Given the description of an element on the screen output the (x, y) to click on. 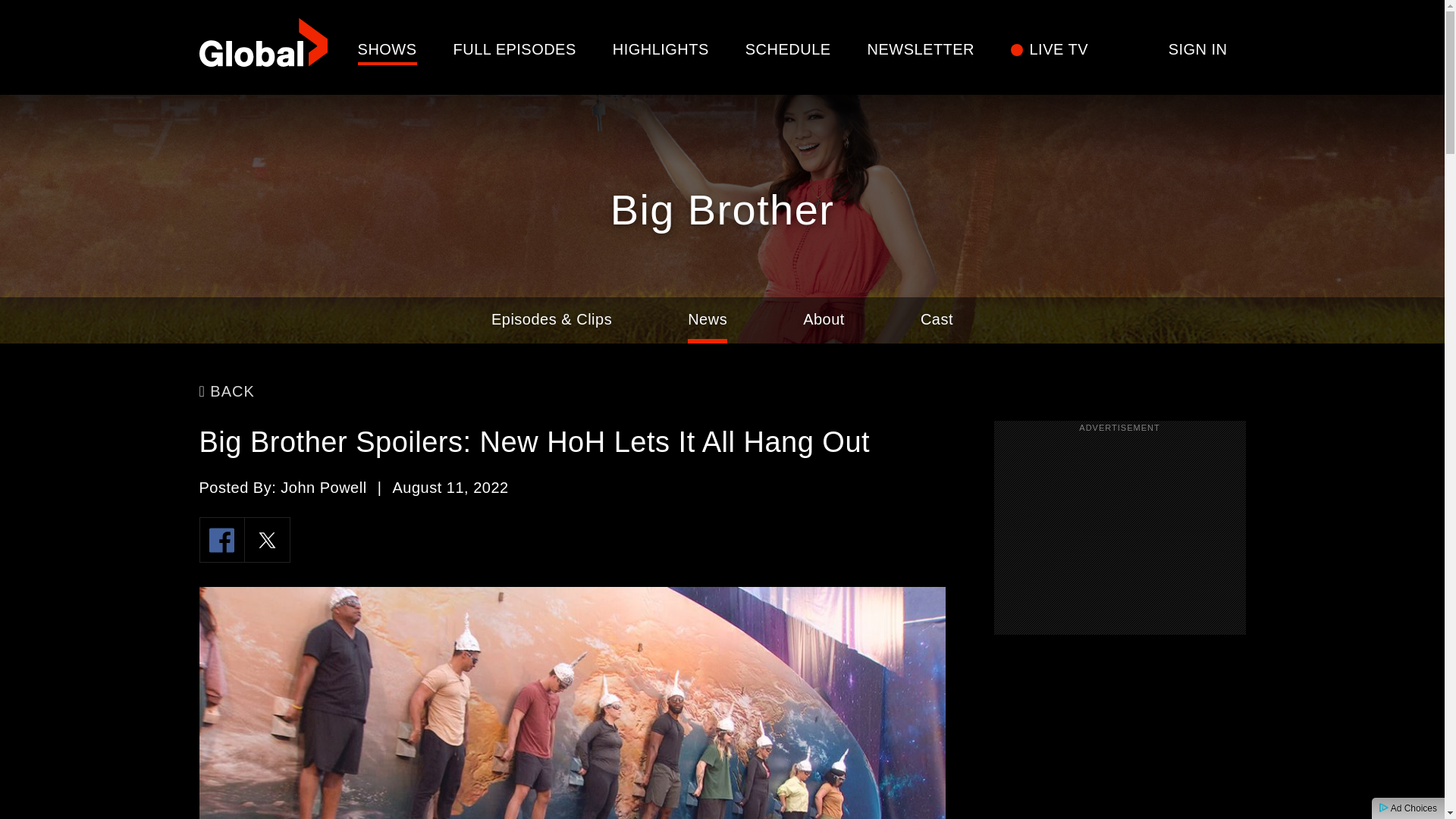
SHOWS (387, 48)
SIGN IN (1198, 48)
HIGHLIGHTS (660, 48)
BACK (225, 391)
SHOWS (387, 48)
Cast (936, 319)
NEWSLETTER (920, 48)
NEWSLETTER (920, 48)
Highlights (660, 48)
LIVE TV (1058, 48)
News (706, 319)
SCHEDULE (788, 48)
FULL EPISODES (514, 48)
FULL EPISODES (514, 48)
Sign In (1198, 48)
